Given the description of an element on the screen output the (x, y) to click on. 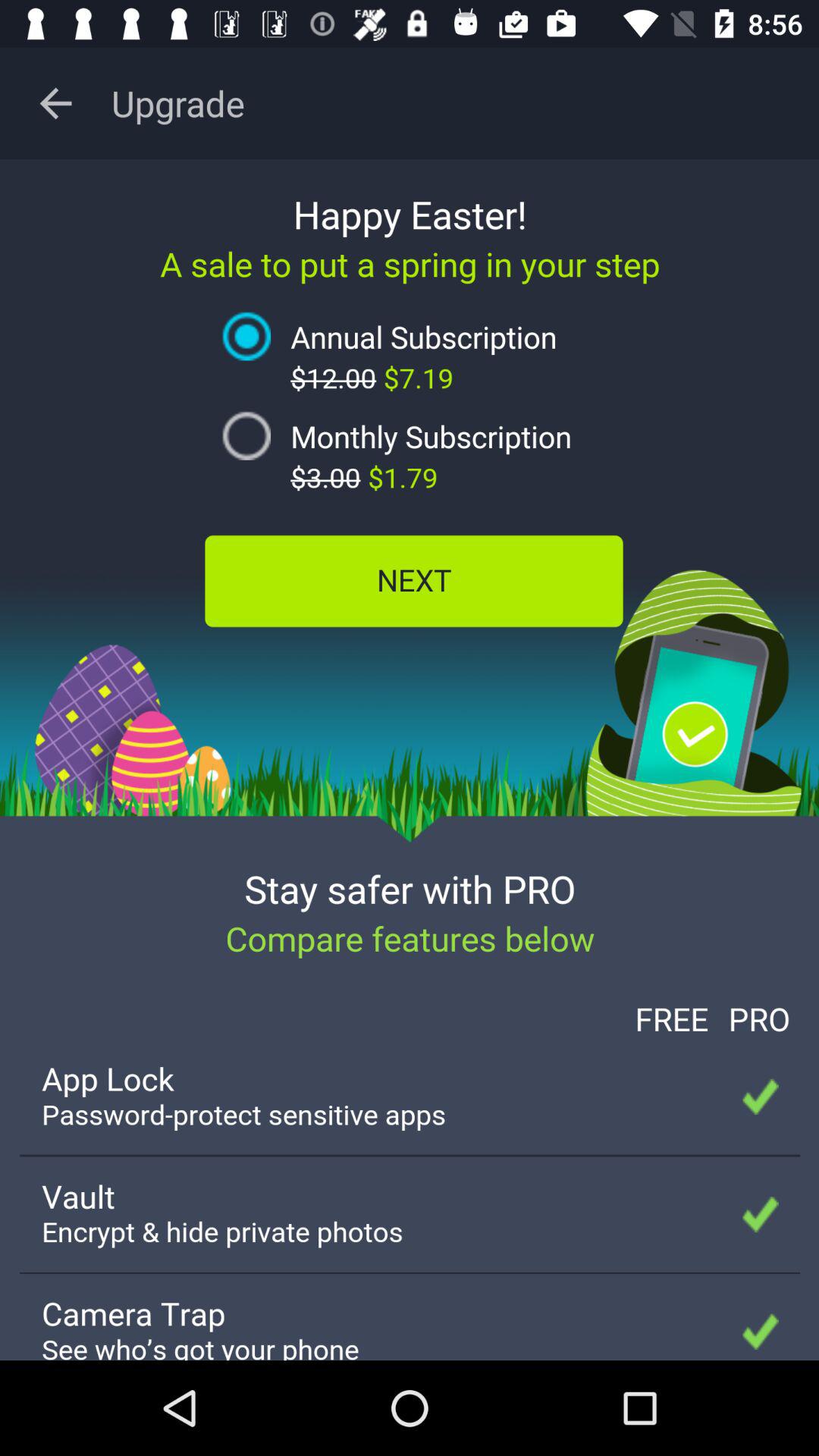
click arrow button (55, 103)
